Given the description of an element on the screen output the (x, y) to click on. 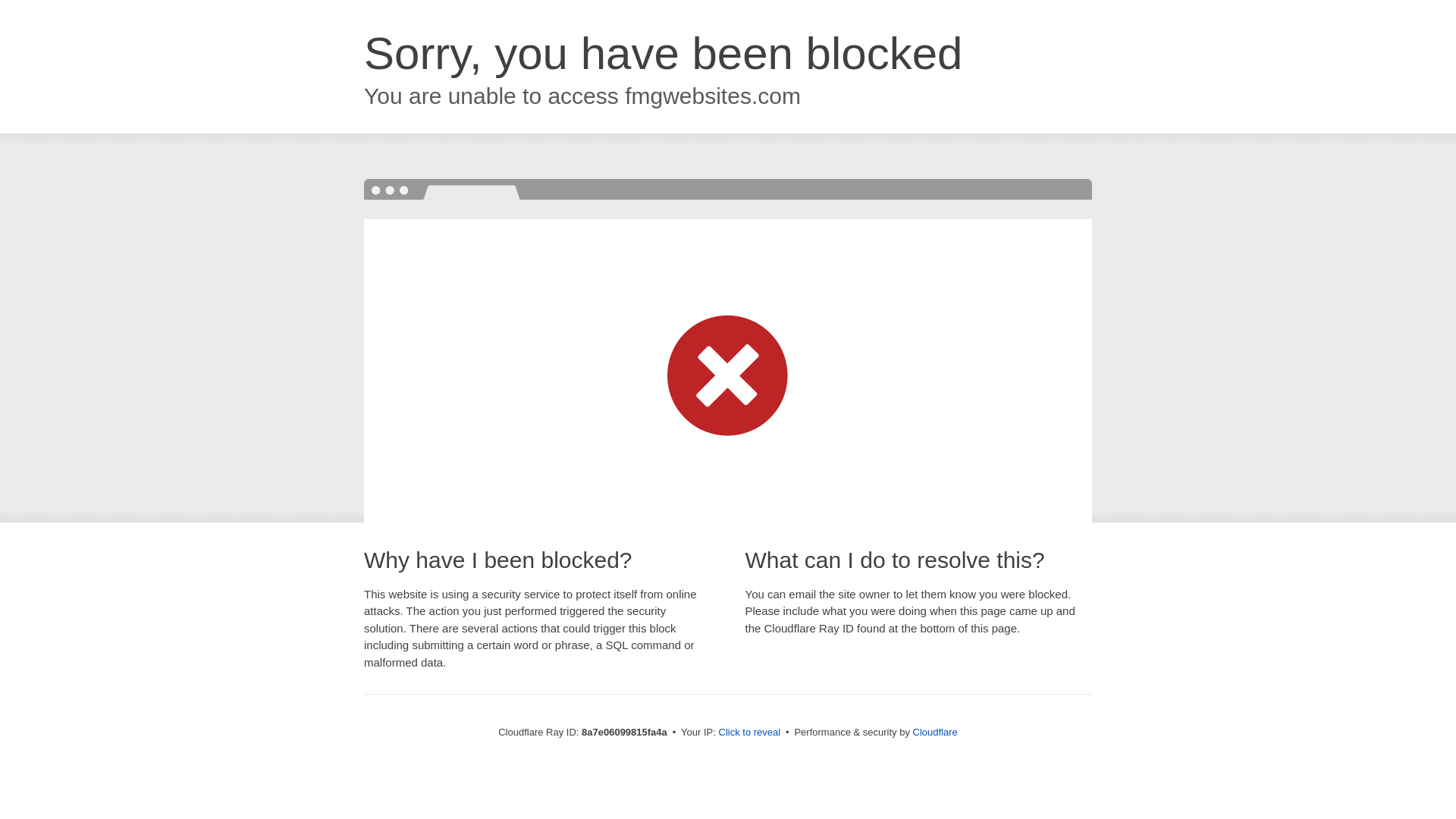
Cloudflare (935, 731)
Click to reveal (749, 732)
